Given the description of an element on the screen output the (x, y) to click on. 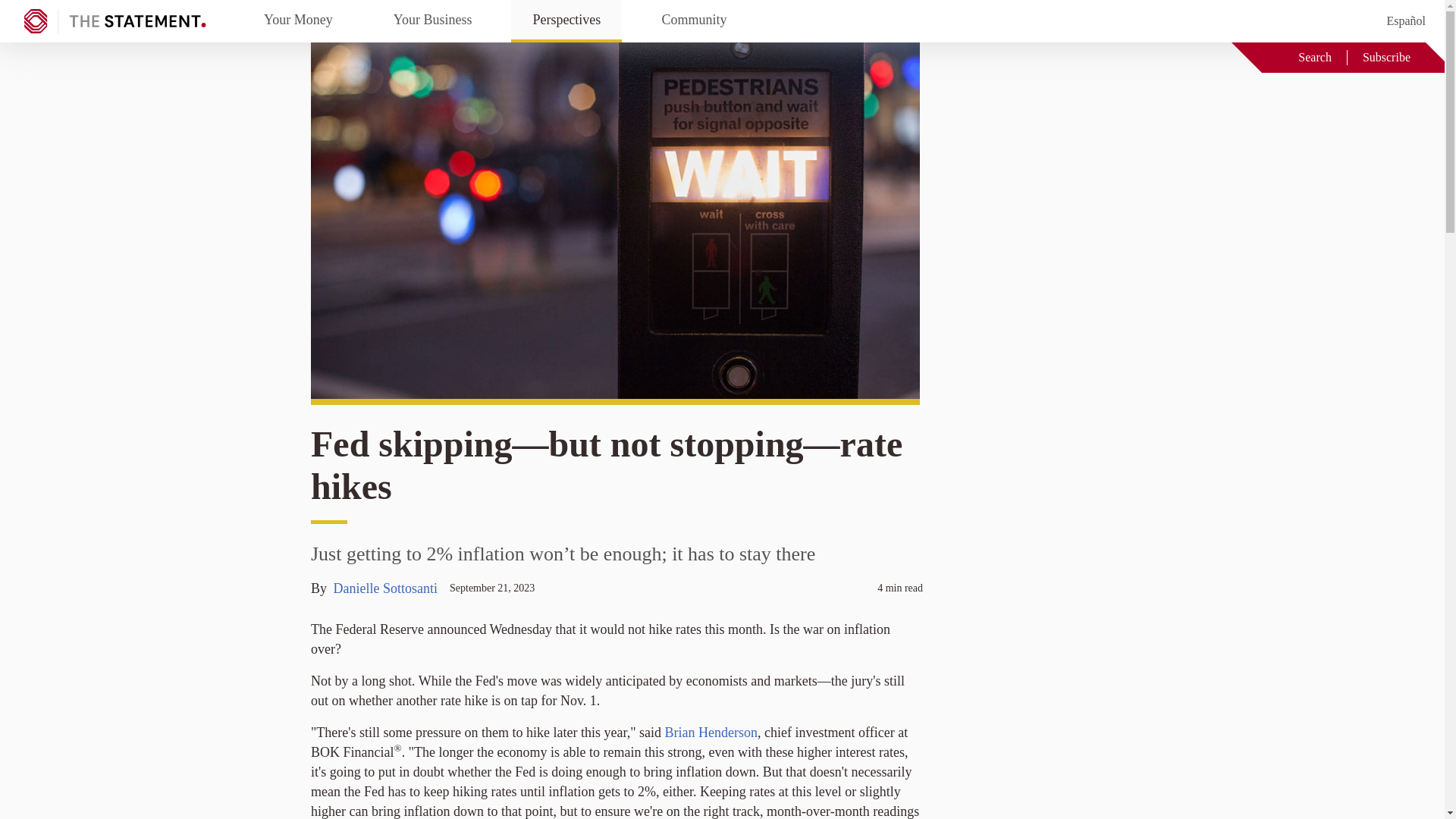
Your Business (432, 21)
Subscribe (1386, 56)
Community (694, 21)
Your Money (298, 21)
Perspectives (566, 21)
Search (1304, 56)
